Given the description of an element on the screen output the (x, y) to click on. 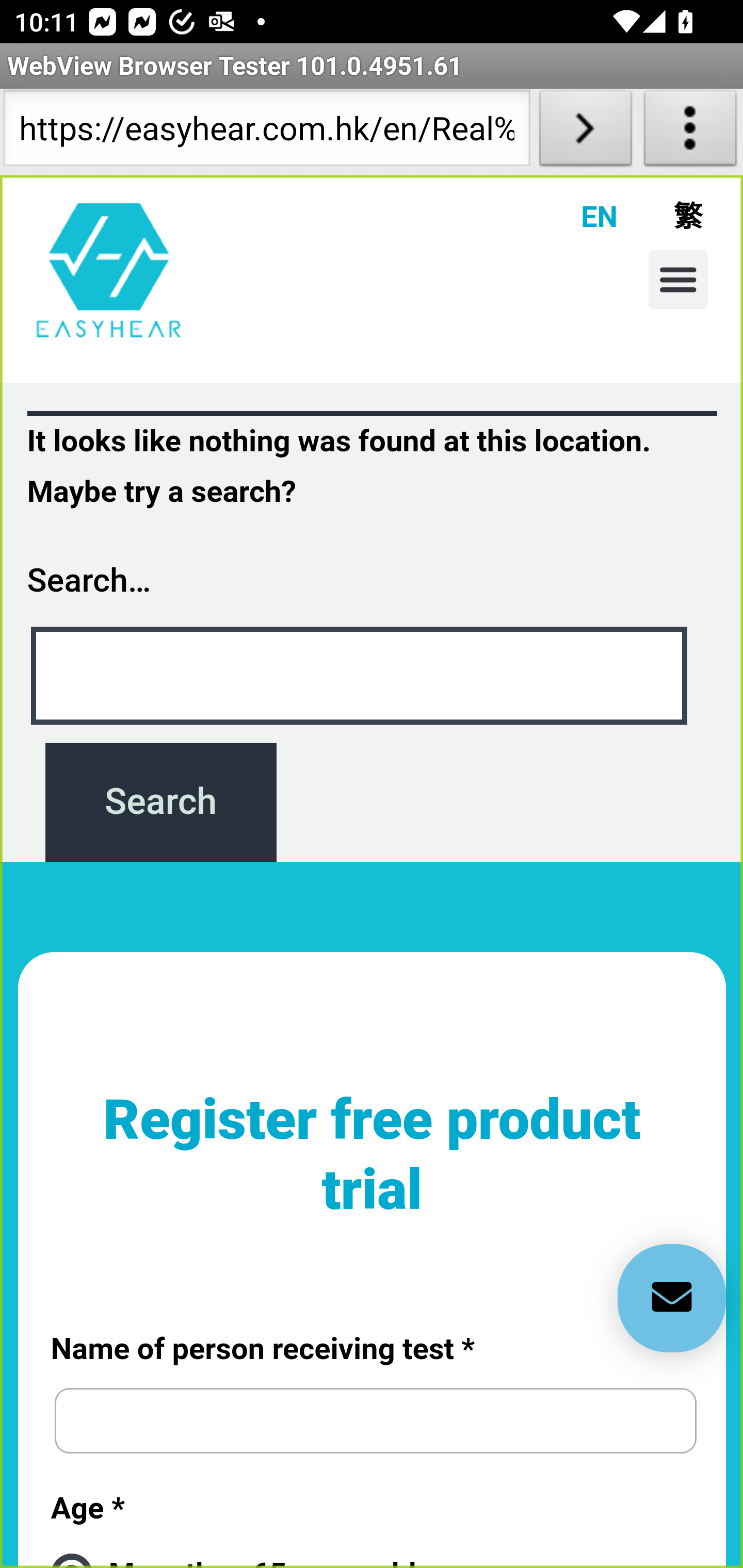
https://easyhear.com.hk/en/Real%20Madrid (266, 132)
Load URL (585, 132)
About WebView (690, 132)
EN (574, 215)
繁 (660, 215)
en (109, 269)
Menu Toggle (677, 278)
Search (160, 801)
Register free product trial (372, 1172)
